Given the description of an element on the screen output the (x, y) to click on. 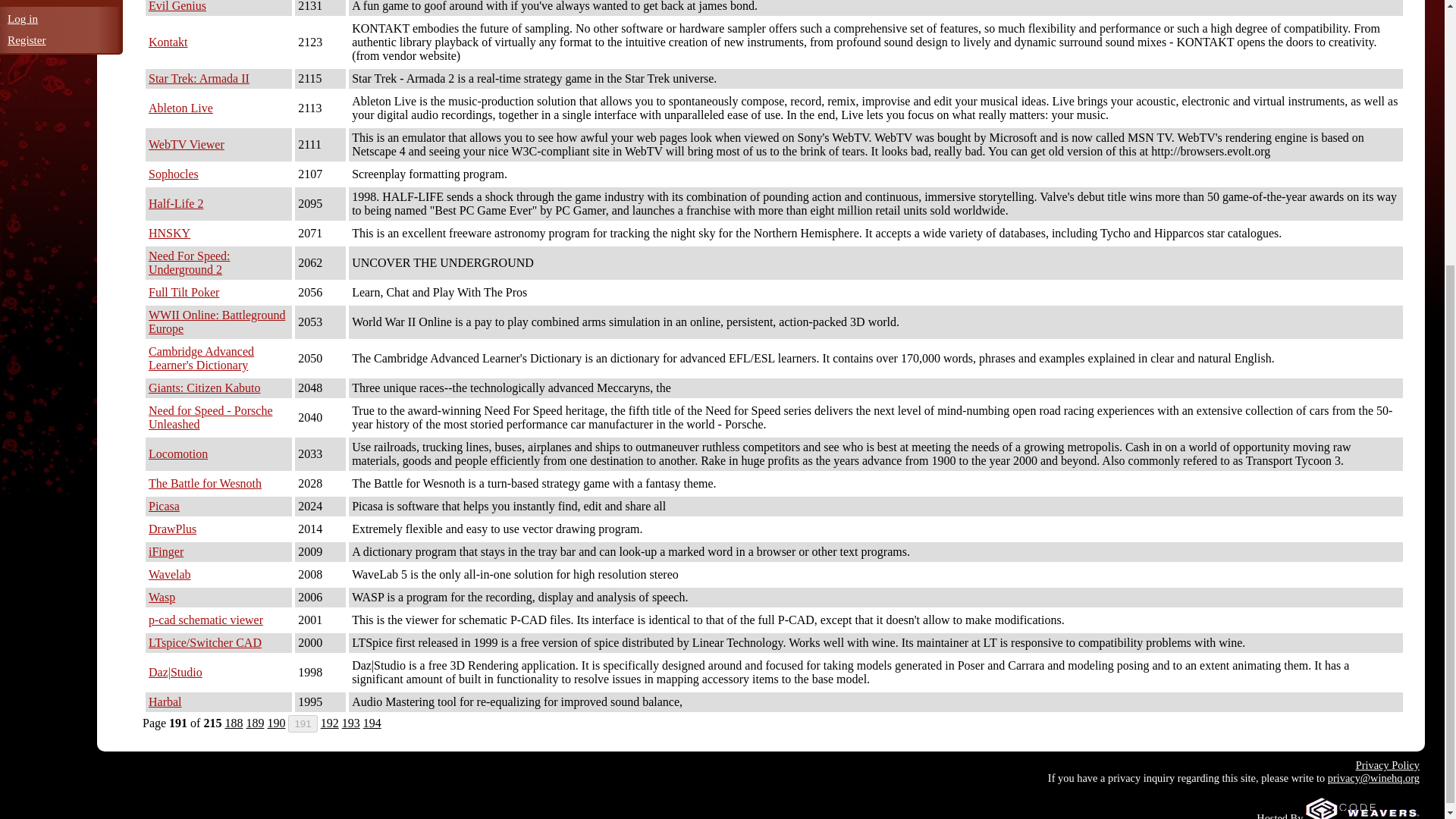
Log in (22, 18)
Star Trek: Armada II (198, 78)
Ableton Live (180, 107)
WebTV Viewer (186, 144)
Kontakt (167, 42)
Evil Genius (177, 6)
Sophocles (173, 173)
Register (26, 39)
